Given the description of an element on the screen output the (x, y) to click on. 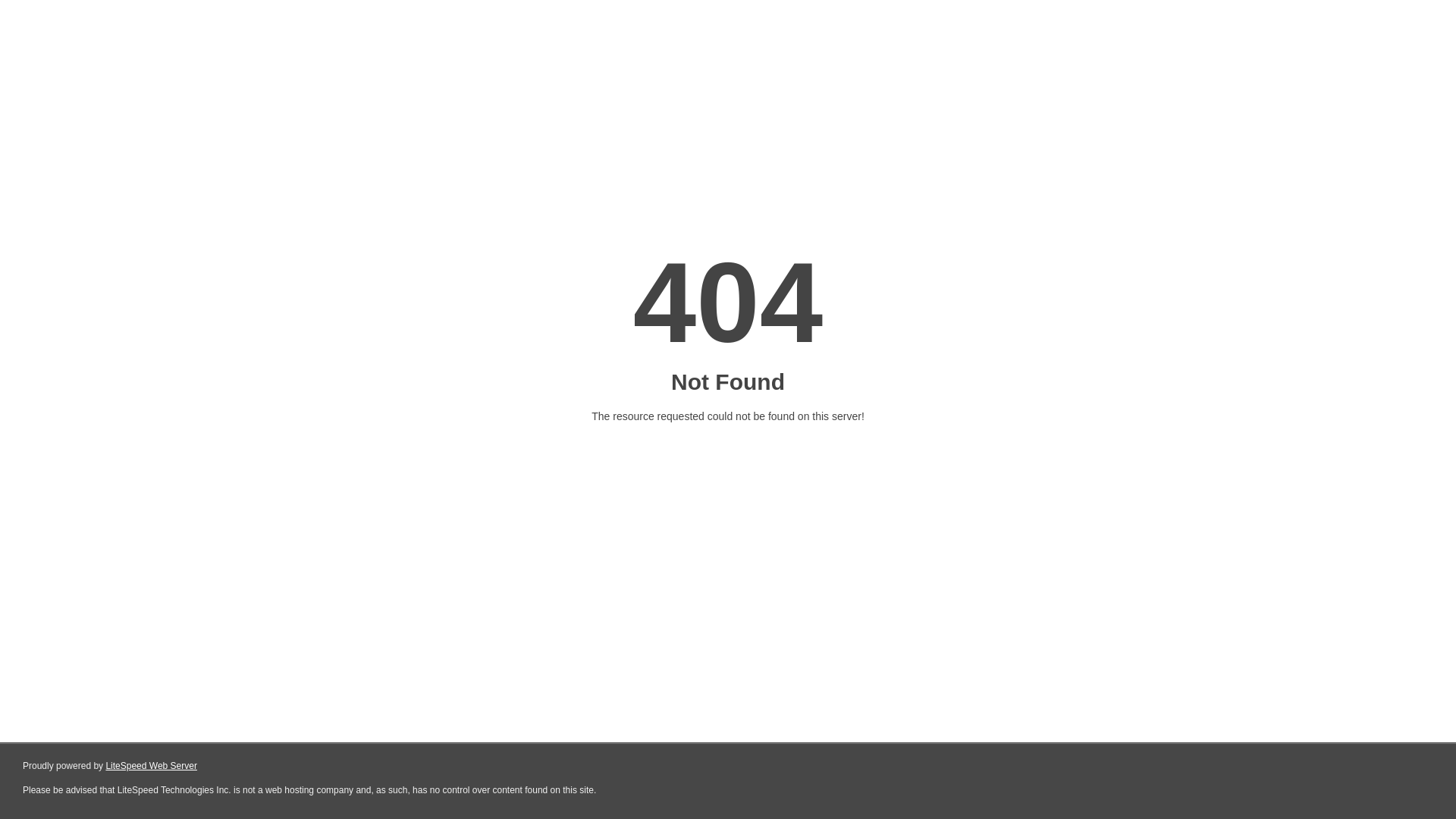
LiteSpeed Web Server Element type: text (151, 765)
